Given the description of an element on the screen output the (x, y) to click on. 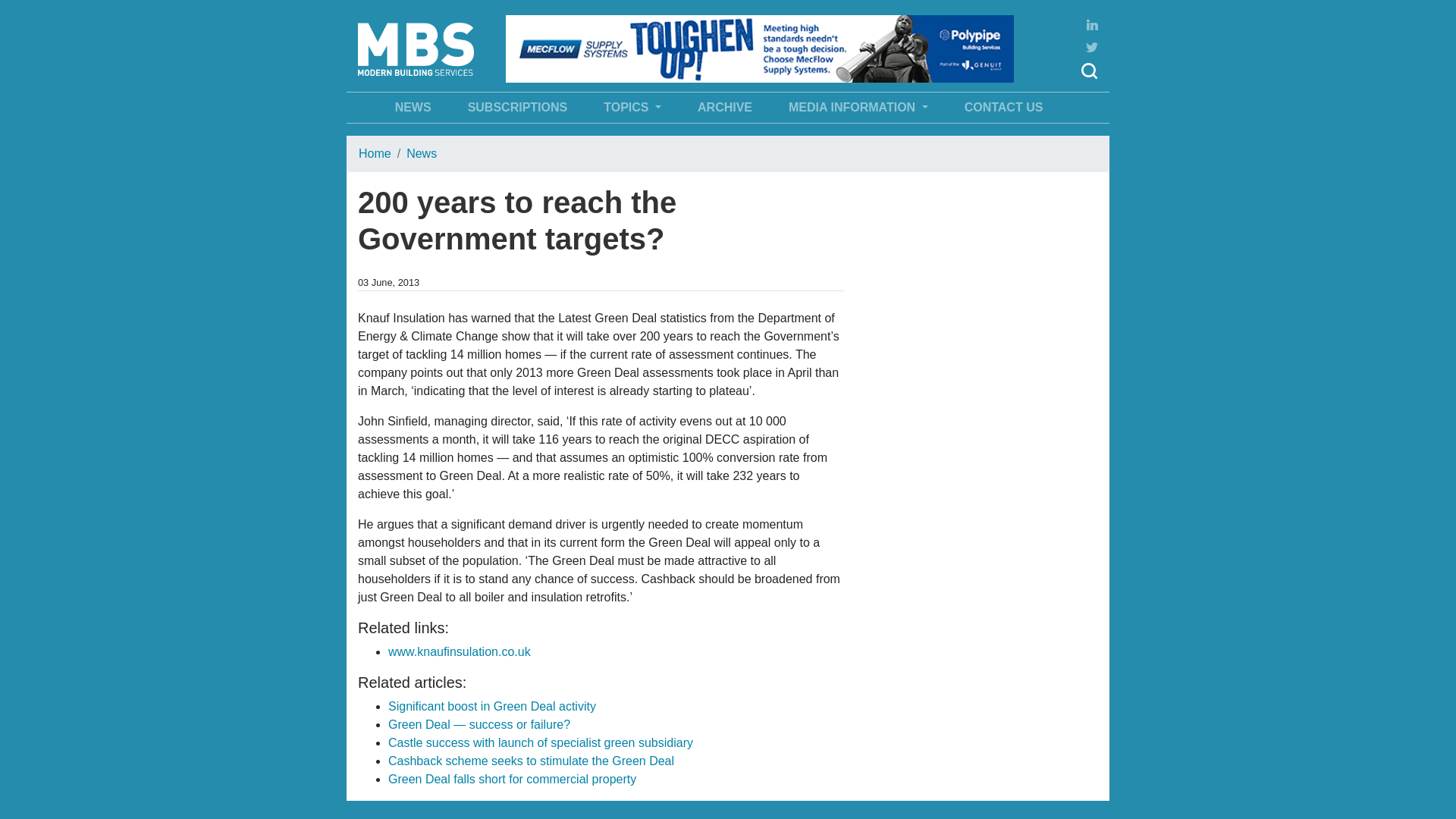
TOPICS (631, 107)
SUBSCRIPTIONS (517, 107)
NEWS (413, 107)
